Given the description of an element on the screen output the (x, y) to click on. 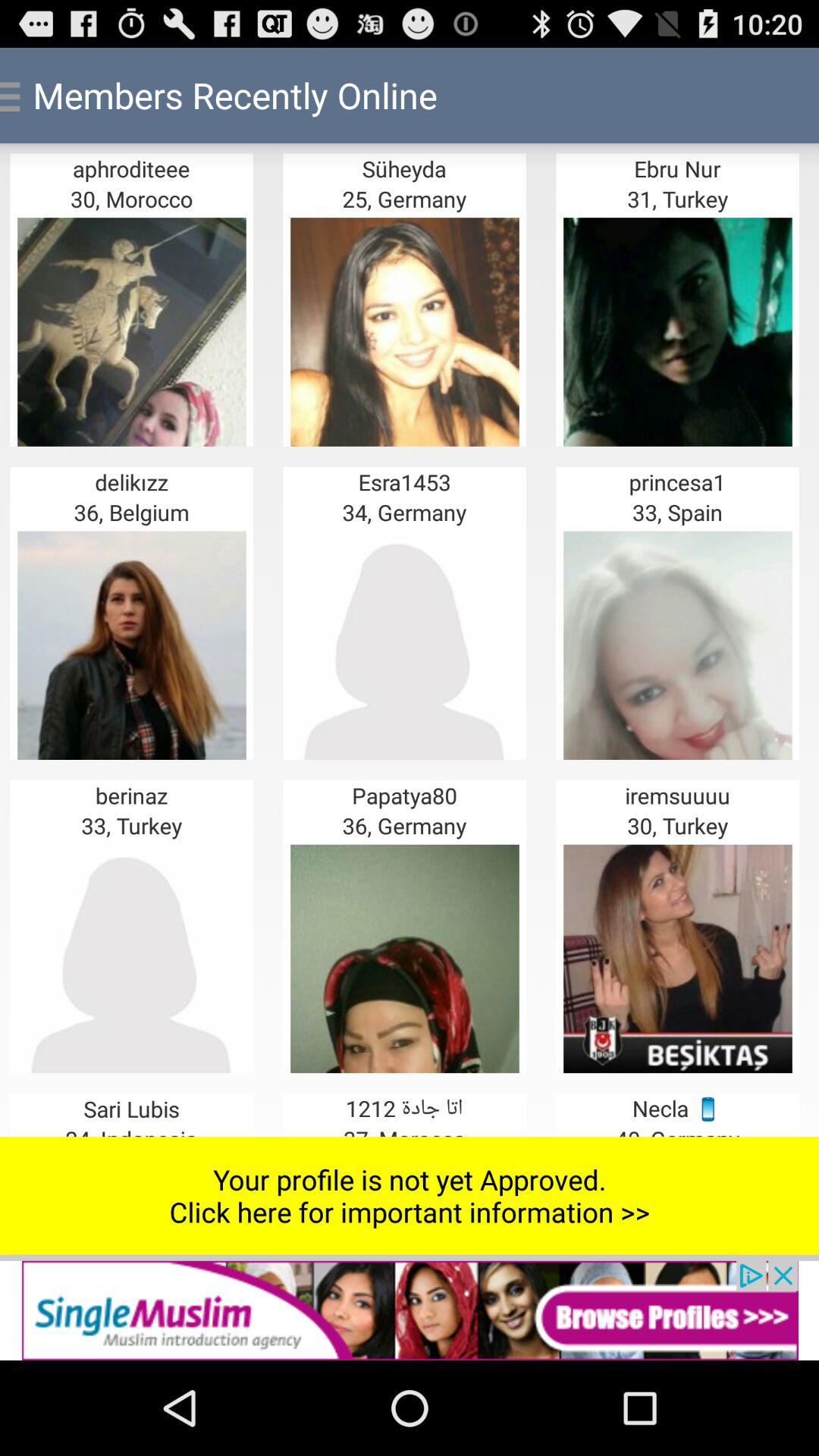
go to advertisement page (409, 1310)
